Given the description of an element on the screen output the (x, y) to click on. 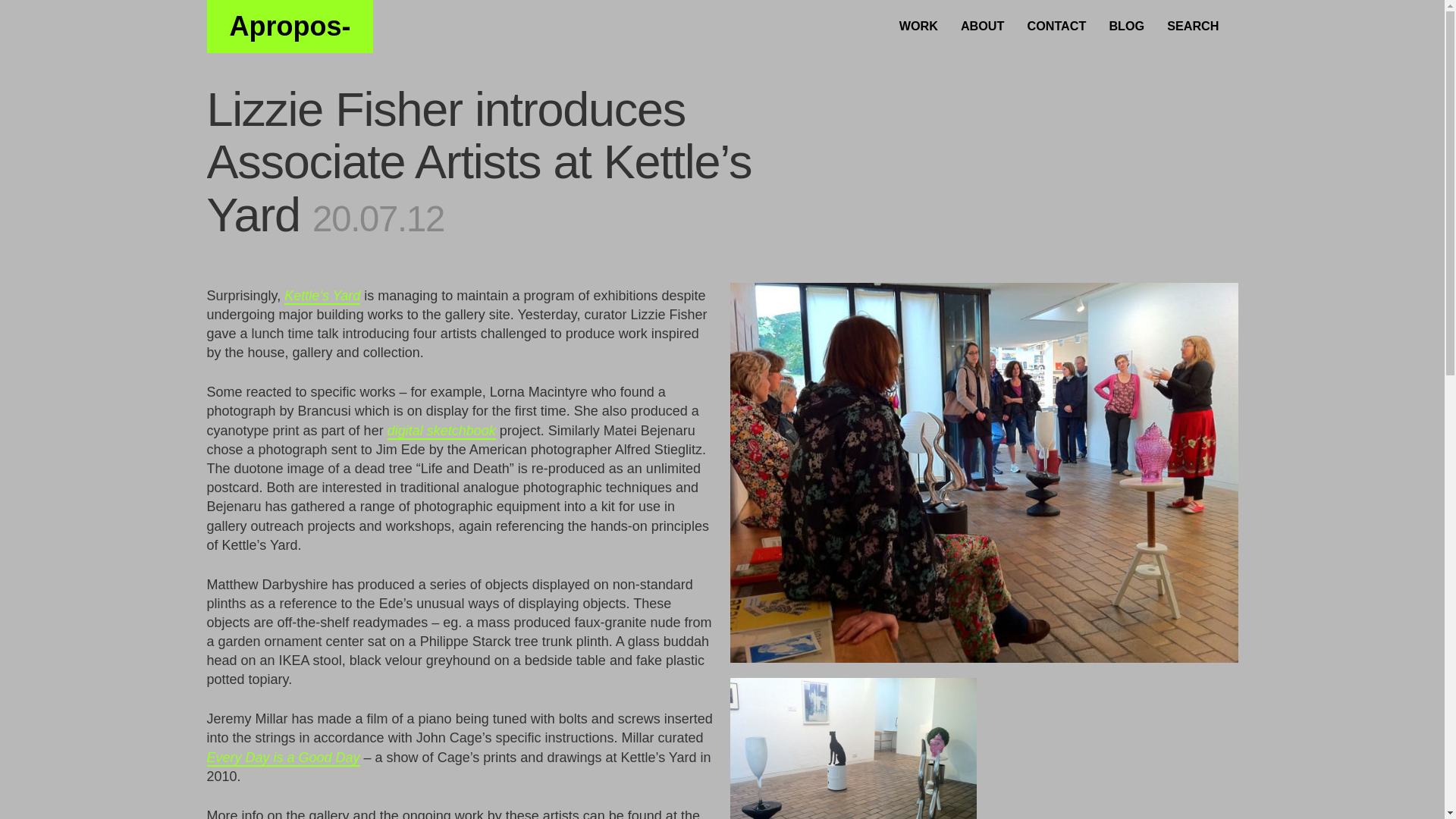
BLOG (1126, 24)
WORK (918, 24)
Apropos- (289, 26)
ABOUT (982, 24)
Search (36, 15)
SEARCH (1193, 24)
Every Day is a Good Day (282, 758)
CONTACT (1055, 24)
digital sketchbook (441, 431)
